Given the description of an element on the screen output the (x, y) to click on. 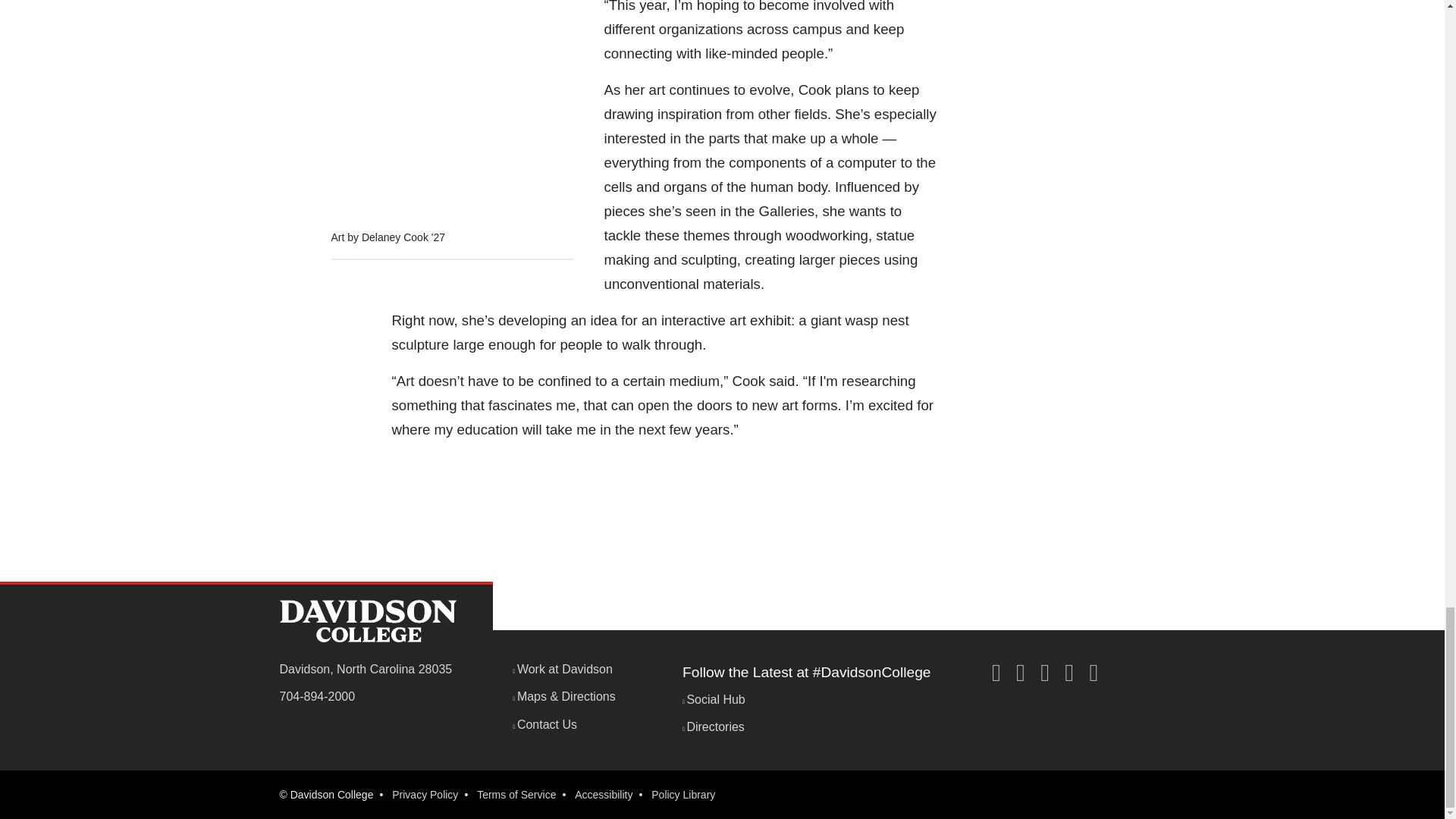
Privacy Policy (424, 794)
Policy Library (682, 794)
Davidson College Homepage (367, 620)
Work at Davidson (562, 668)
704-894-2000 (317, 696)
Contact Us (544, 724)
Accessibility (603, 794)
Social Hub (713, 698)
Terms of Service (516, 794)
Directories (713, 726)
